Given the description of an element on the screen output the (x, y) to click on. 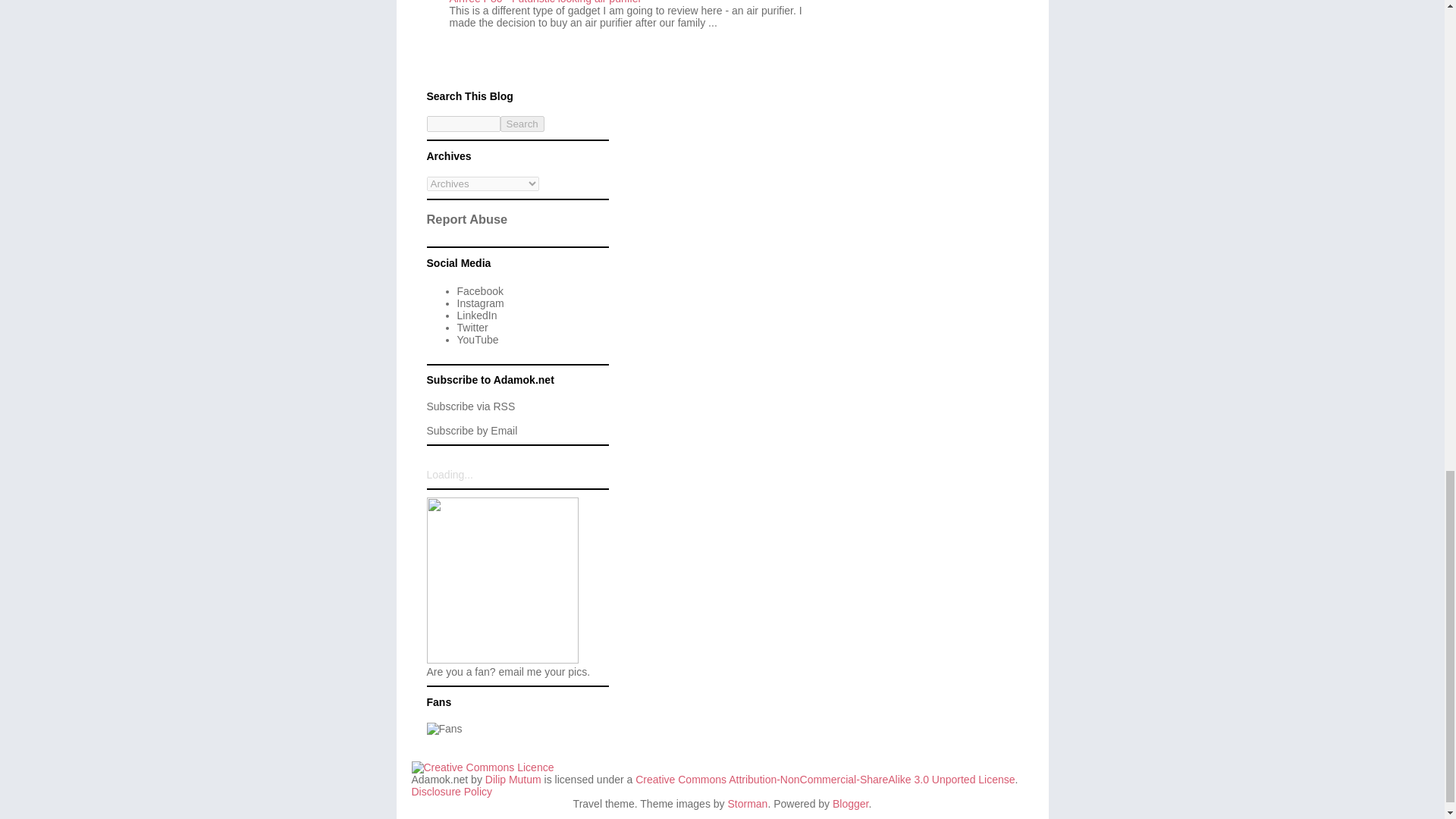
Twitter (472, 327)
Facebook (479, 291)
search (462, 123)
Subscribe via RSS (470, 406)
Search (522, 123)
search (522, 123)
LinkedIn (476, 315)
Airfree P80 - Futuristic looking air purifier (545, 2)
Search (522, 123)
YouTube (477, 339)
